Given the description of an element on the screen output the (x, y) to click on. 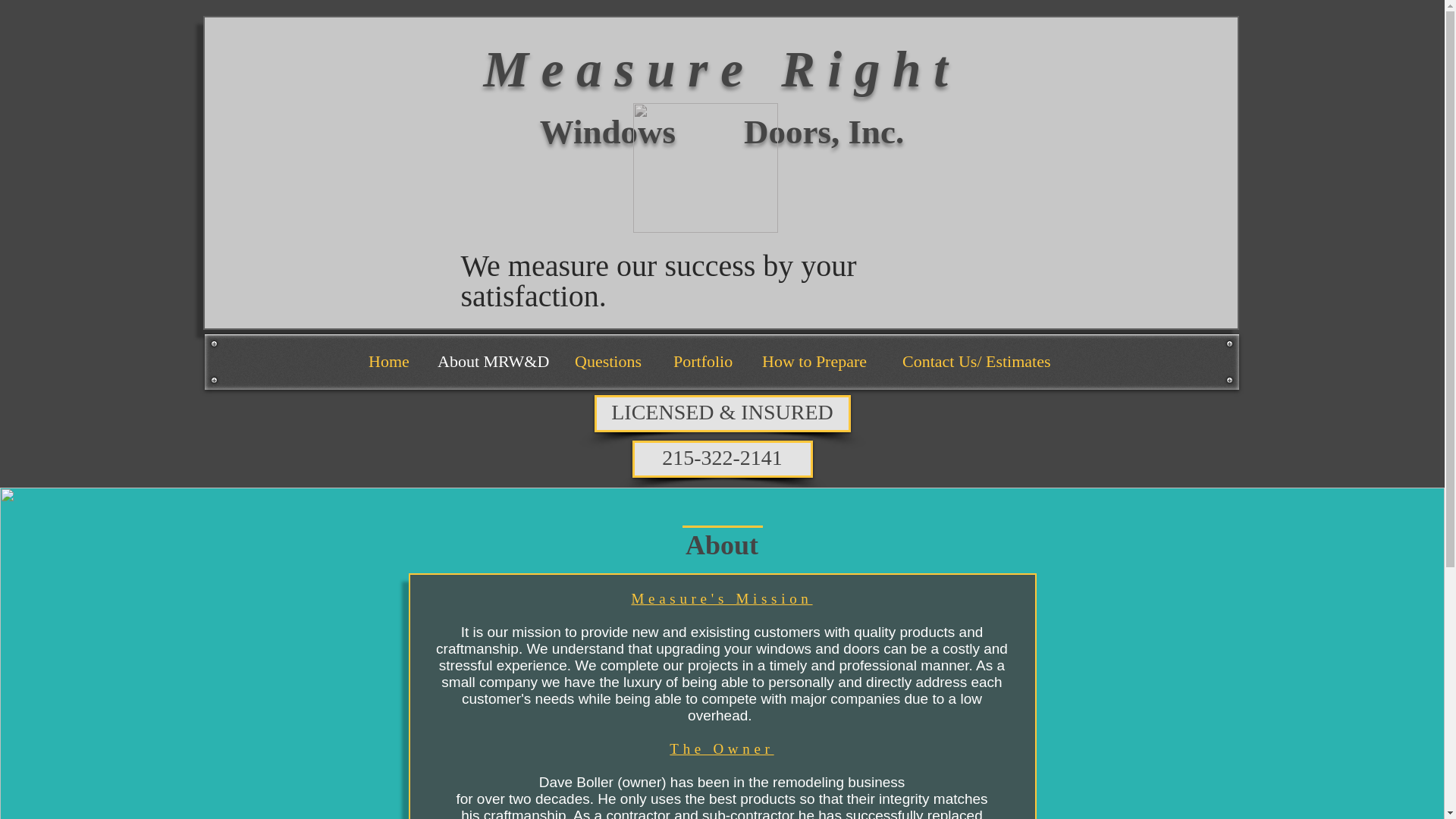
Questions (612, 361)
How to Prepare (820, 361)
215-322-2141 (721, 458)
Portfolio (705, 361)
Home (390, 361)
